Given the description of an element on the screen output the (x, y) to click on. 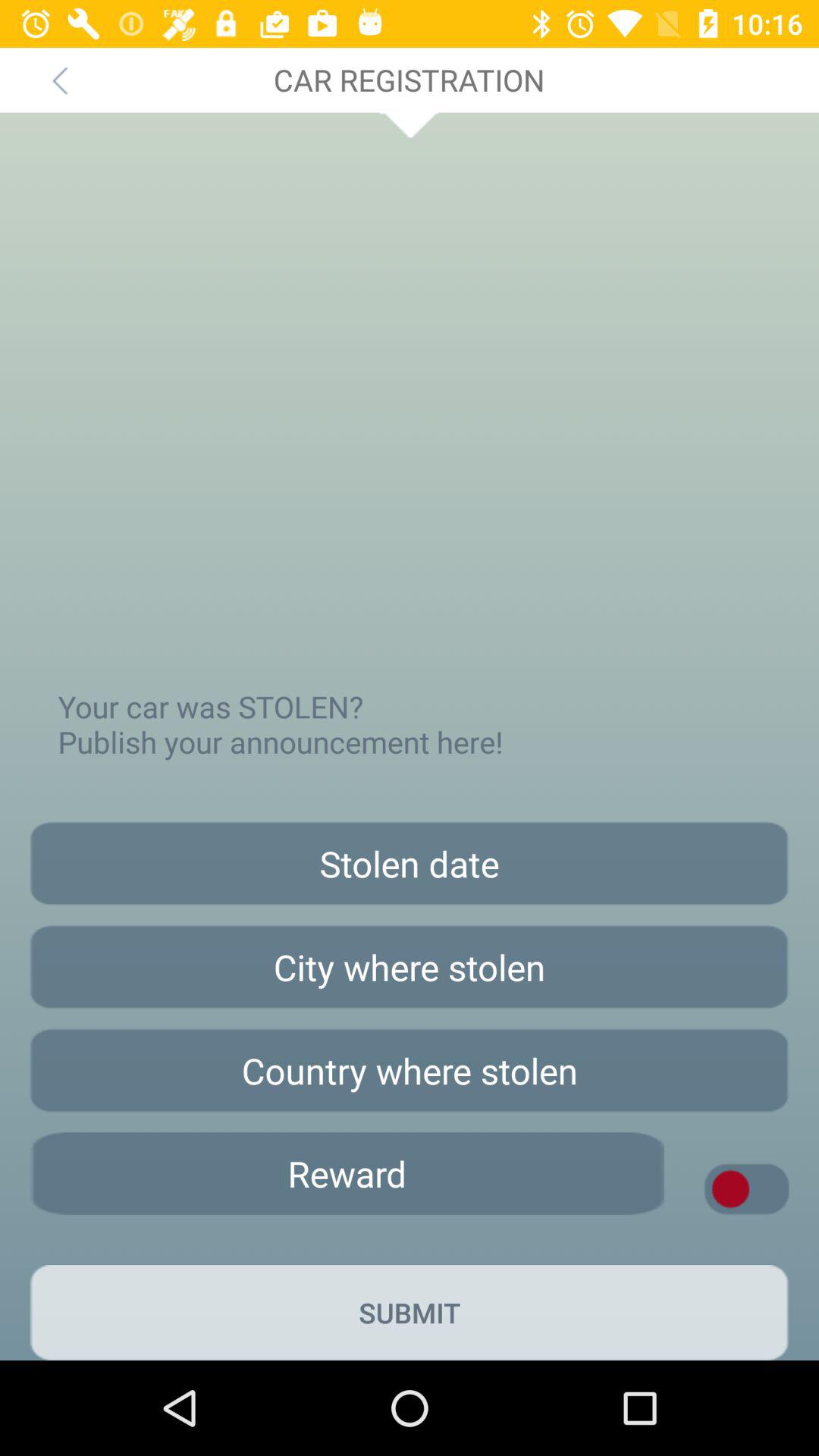
turn off the icon at the top left corner (59, 79)
